Given the description of an element on the screen output the (x, y) to click on. 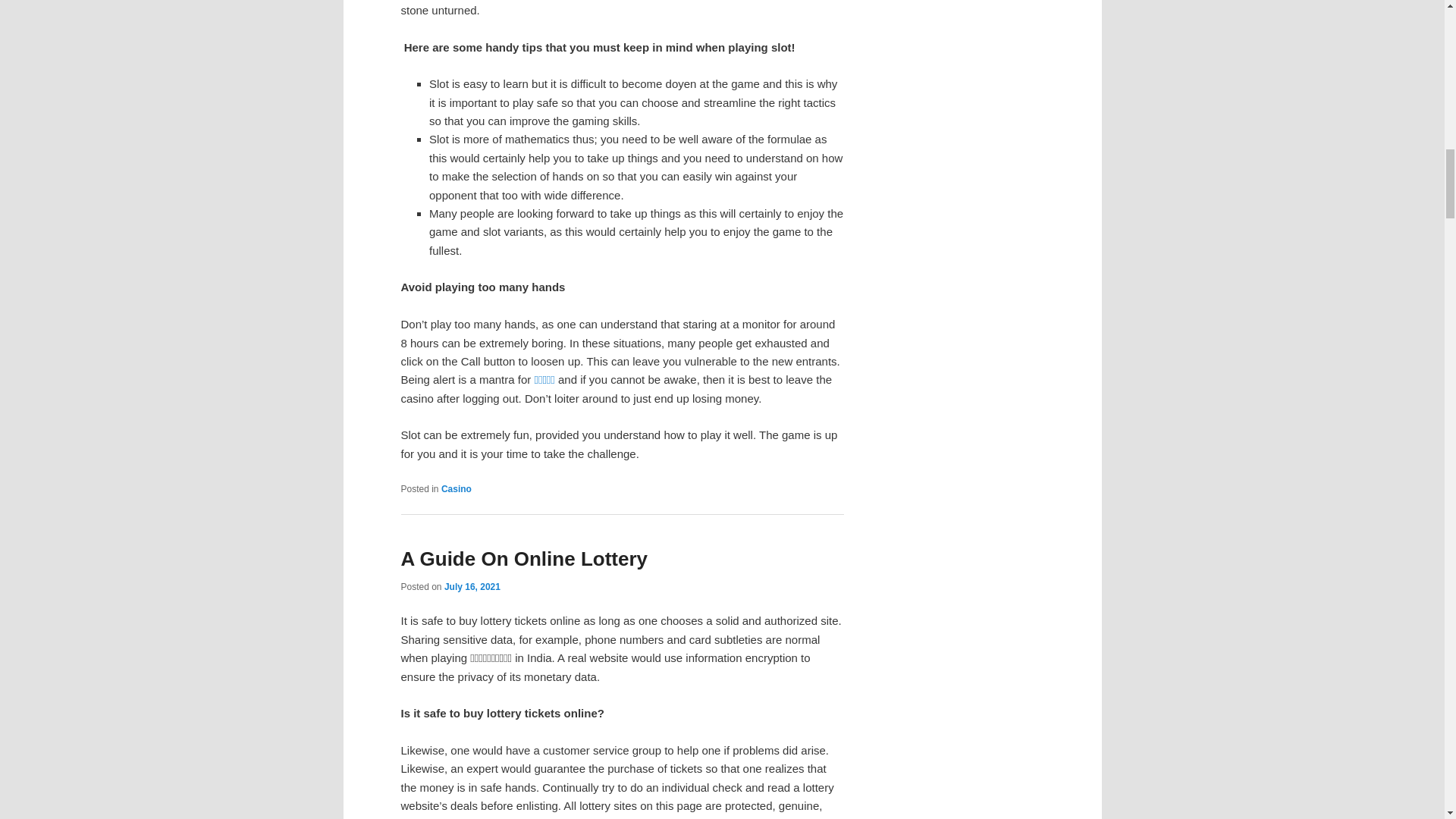
A Guide On Online Lottery (523, 558)
July 16, 2021 (472, 586)
9:34 am (472, 586)
Casino (456, 489)
